Given the description of an element on the screen output the (x, y) to click on. 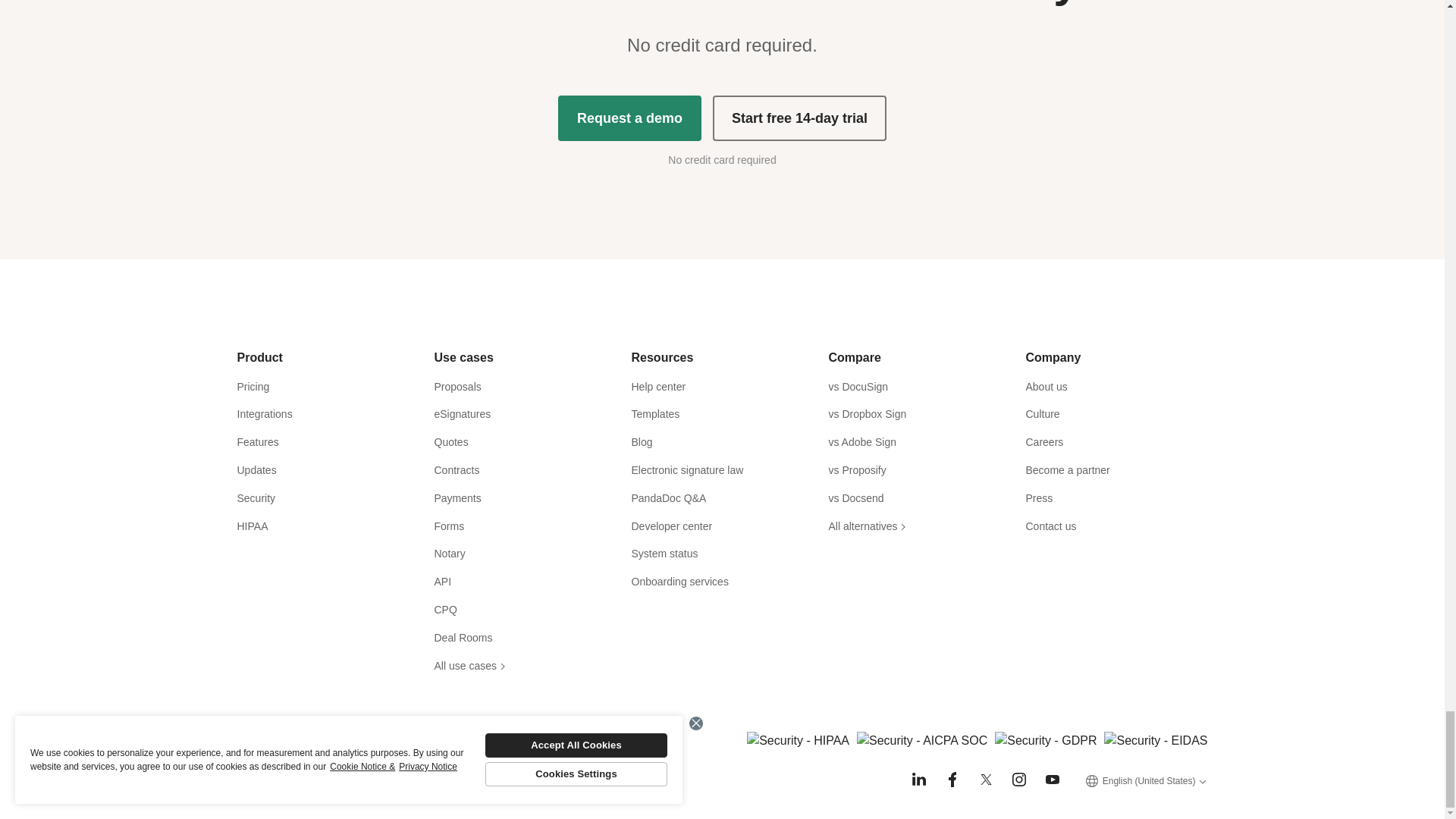
Facebook (951, 779)
Youtube (1052, 779)
Instagram (1018, 779)
LinkedIn (919, 779)
Twitter (985, 779)
